Given the description of an element on the screen output the (x, y) to click on. 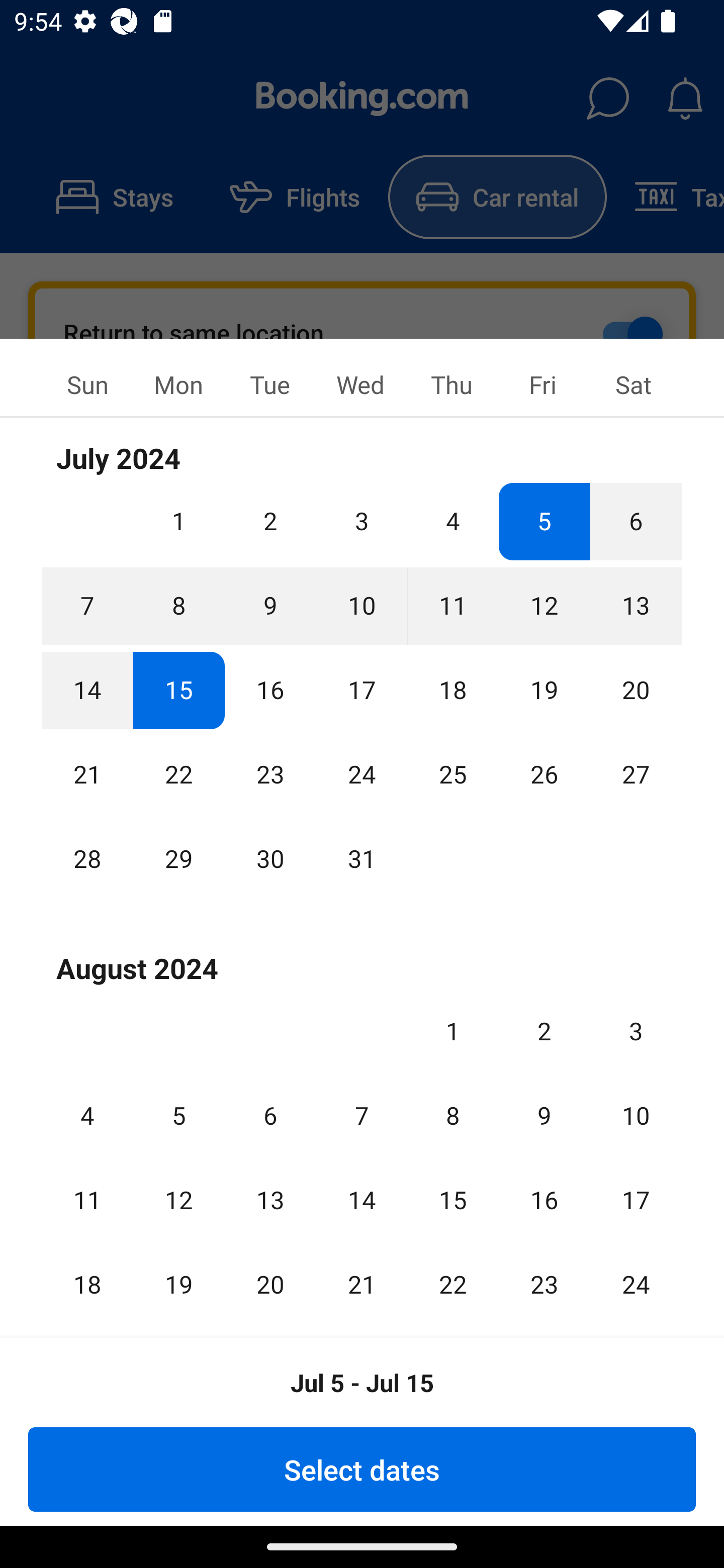
Select dates (361, 1468)
